Given the description of an element on the screen output the (x, y) to click on. 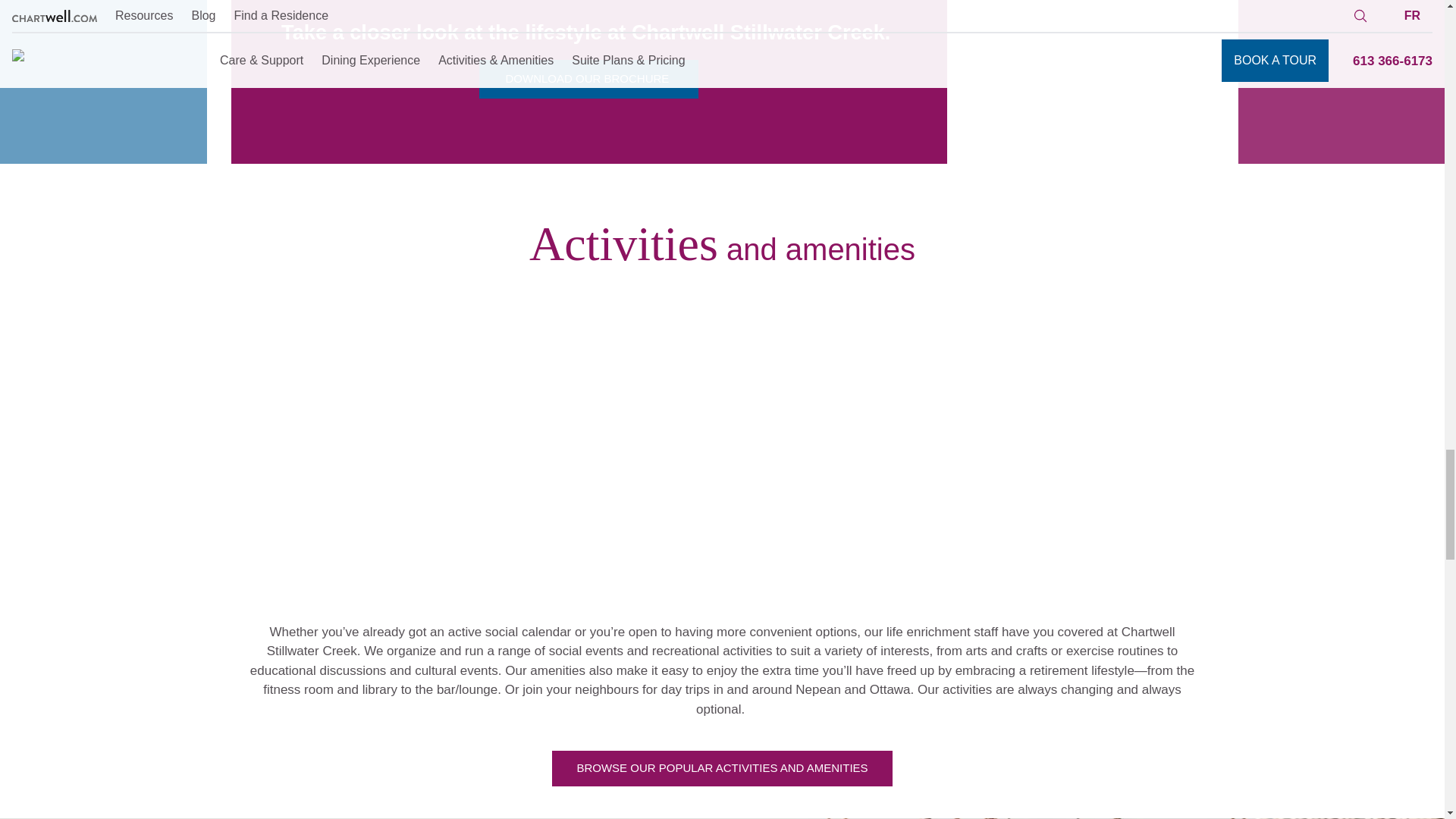
BROWSE OUR POPULAR ACTIVITIES AND AMENITIES (721, 768)
